Given the description of an element on the screen output the (x, y) to click on. 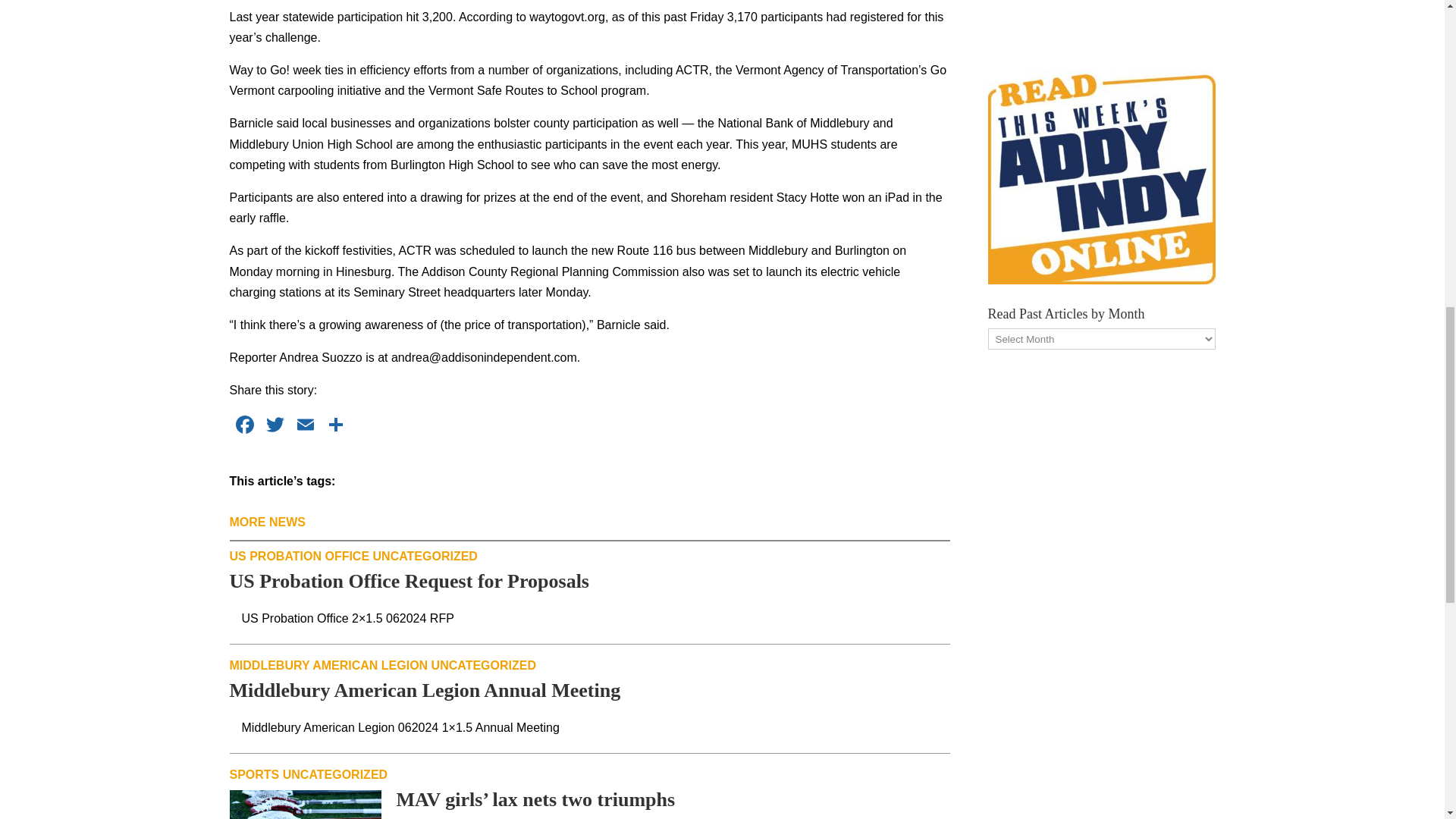
Facebook (243, 426)
Twitter (274, 426)
Email (304, 426)
3rd party ad content (1100, 17)
